Given the description of an element on the screen output the (x, y) to click on. 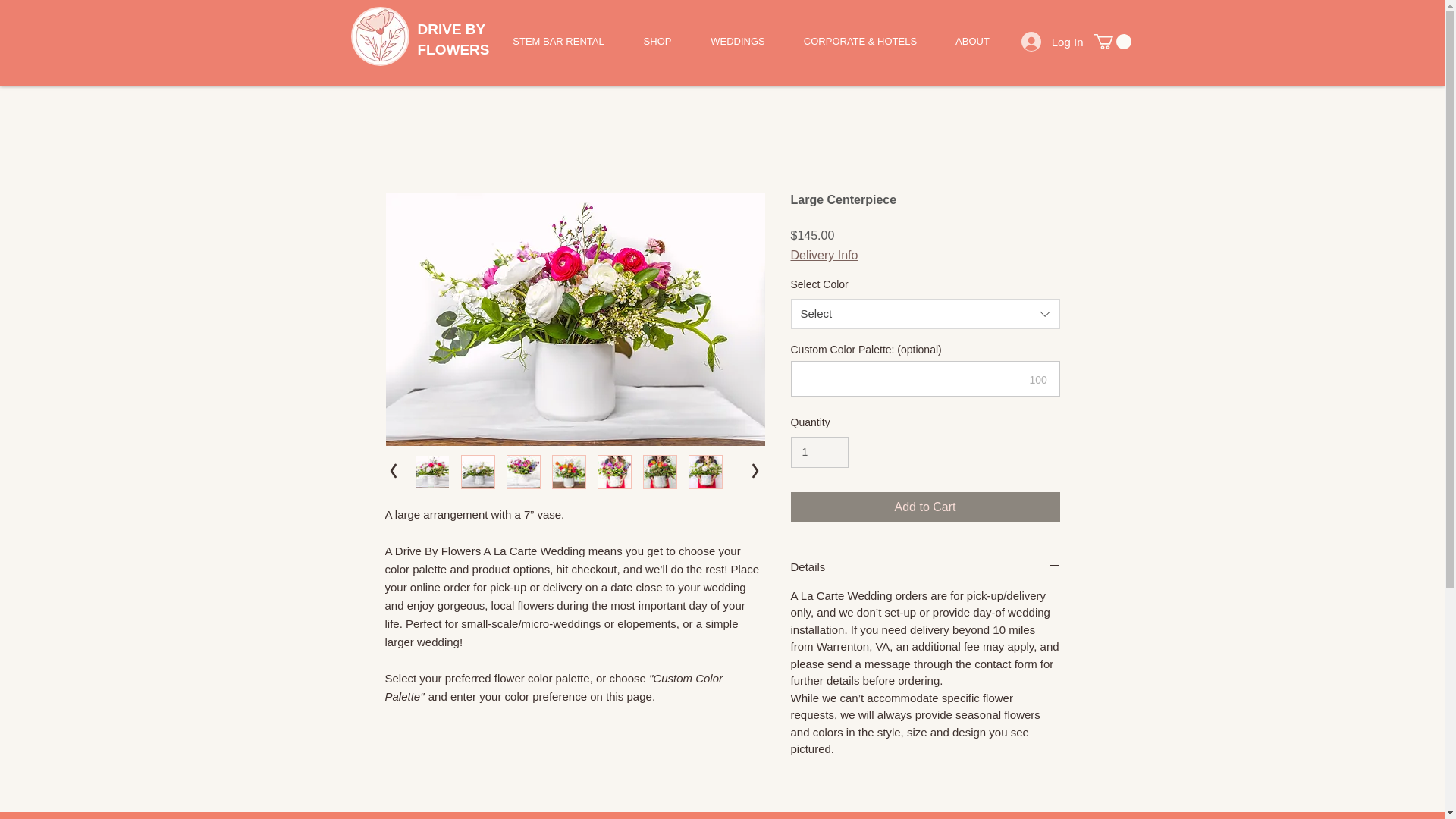
ABOUT (972, 41)
Log In (1052, 41)
STEM BAR RENTAL (558, 41)
DRIVE BY FLOWERS (452, 39)
Add to Cart (924, 507)
Select (924, 313)
SHOP (656, 41)
Details (924, 566)
WEDDINGS (737, 41)
Delivery Info (823, 255)
